Given the description of an element on the screen output the (x, y) to click on. 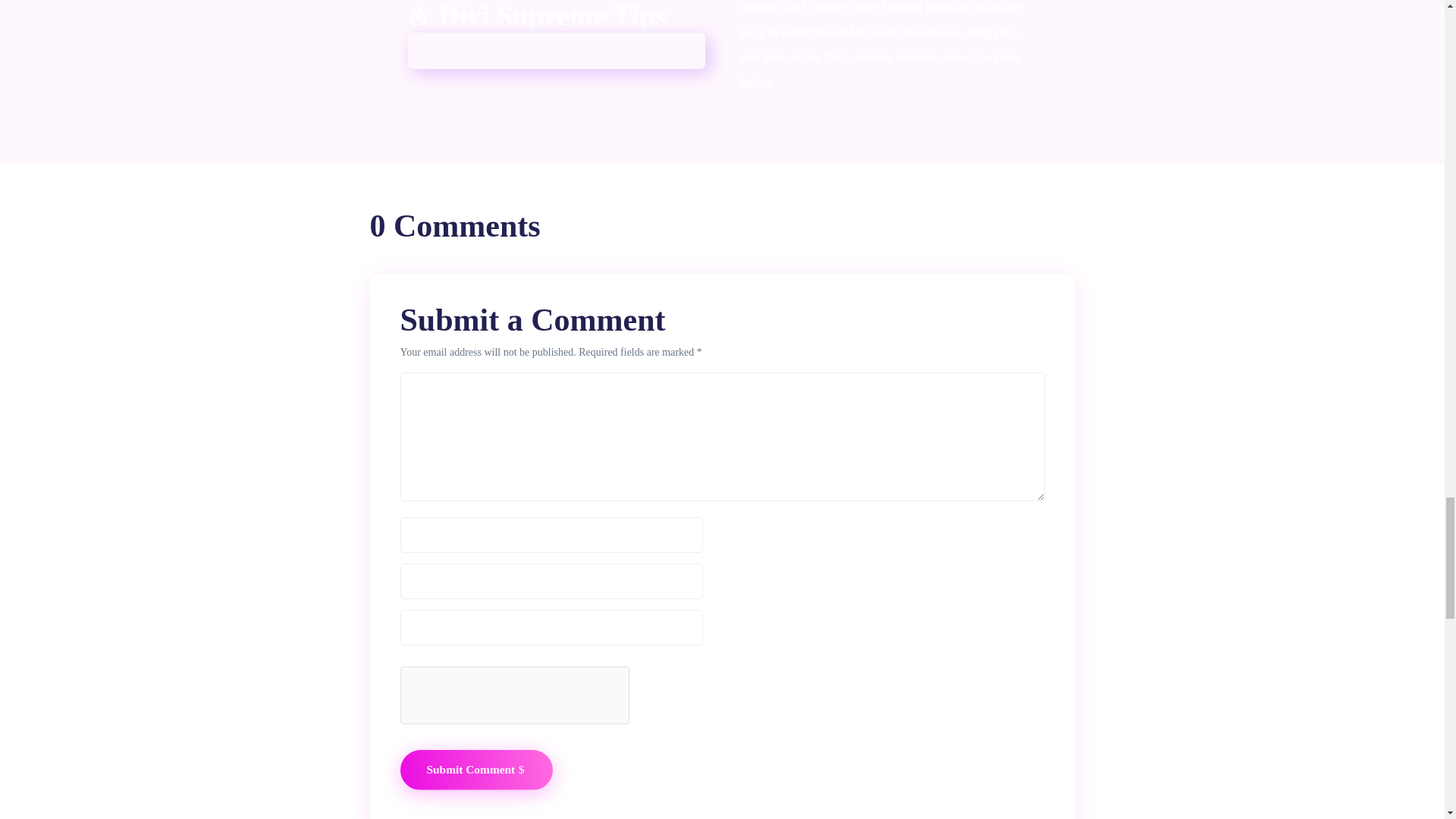
Submit Comment (476, 769)
